Given the description of an element on the screen output the (x, y) to click on. 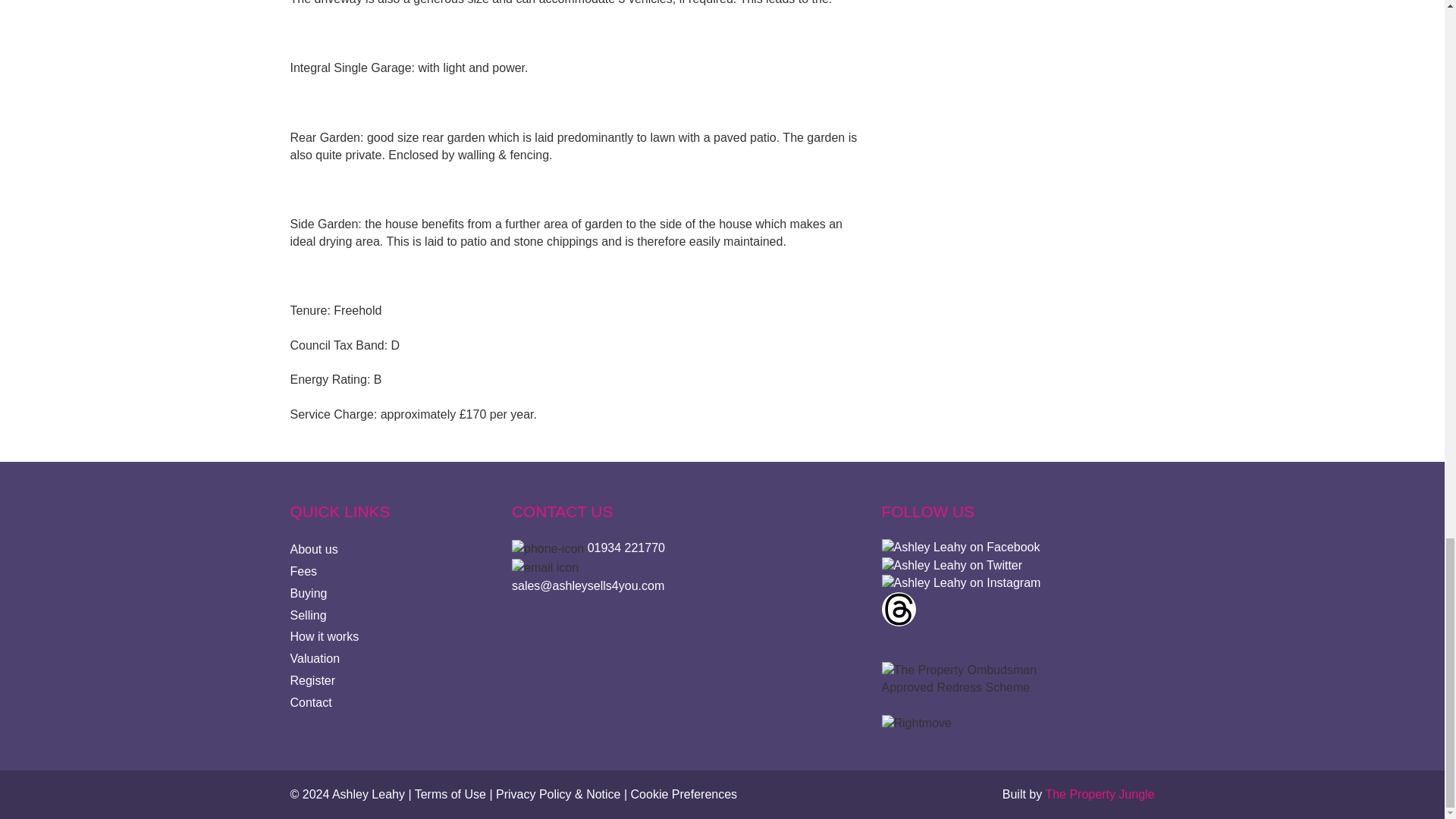
Selling (307, 615)
Valuation (314, 658)
Register (311, 680)
Fees (303, 571)
About Us (313, 549)
Ashley Leahy on Threads (897, 609)
Buying (307, 593)
Terms of Use (450, 793)
Contact (310, 702)
Buying (307, 593)
01934 221770 (626, 547)
How it works (323, 635)
How it works (323, 635)
Selling (307, 615)
Valuation (314, 658)
